Given the description of an element on the screen output the (x, y) to click on. 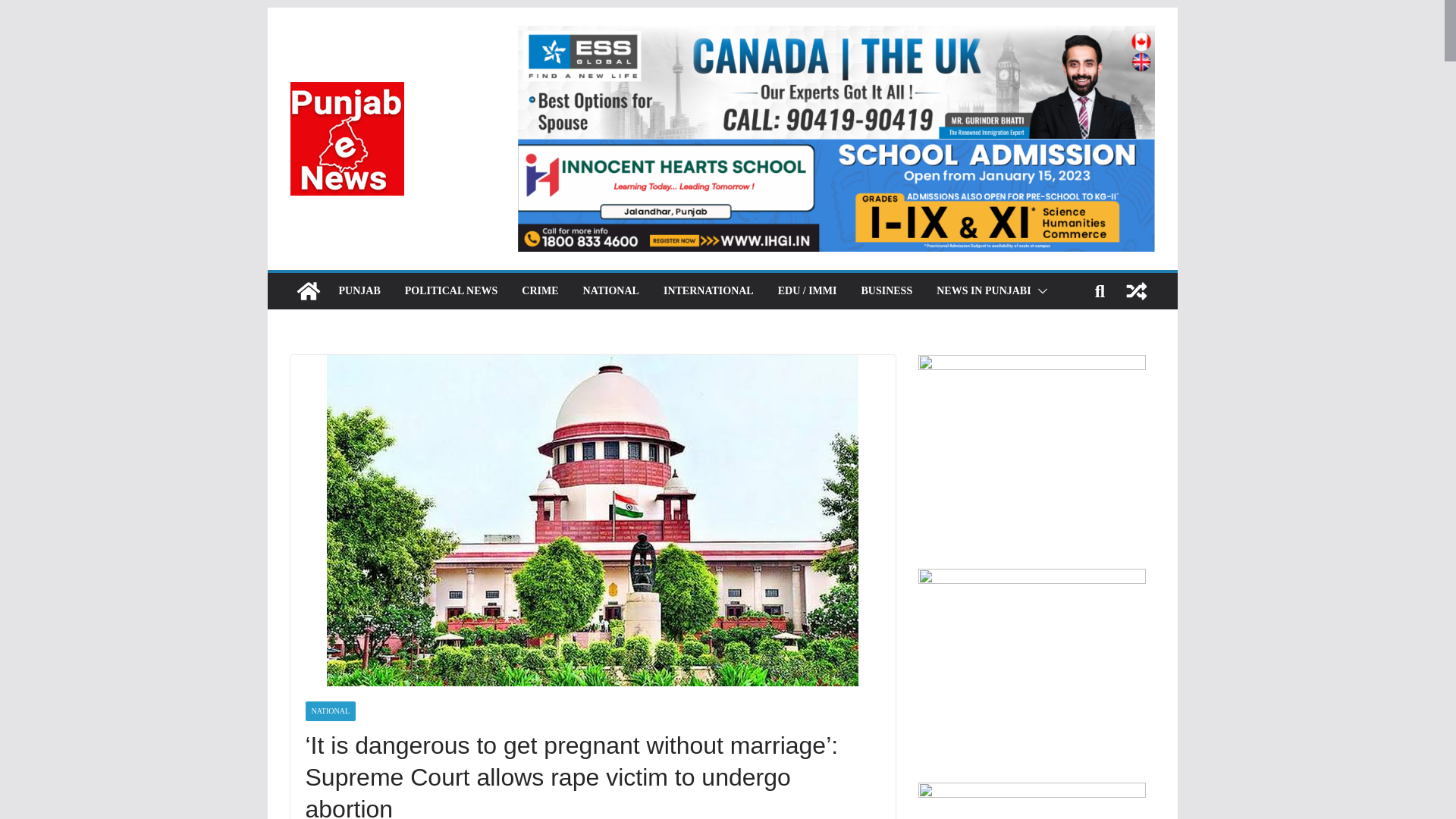
CRIME (539, 291)
NATIONAL (329, 711)
NEWS IN PUNJABI (983, 291)
INTERNATIONAL (708, 291)
POLITICAL NEWS (450, 291)
View a random post (1136, 290)
BUSINESS (886, 291)
PunjabENews (307, 290)
PUNJAB (358, 291)
NATIONAL (611, 291)
